Given the description of an element on the screen output the (x, y) to click on. 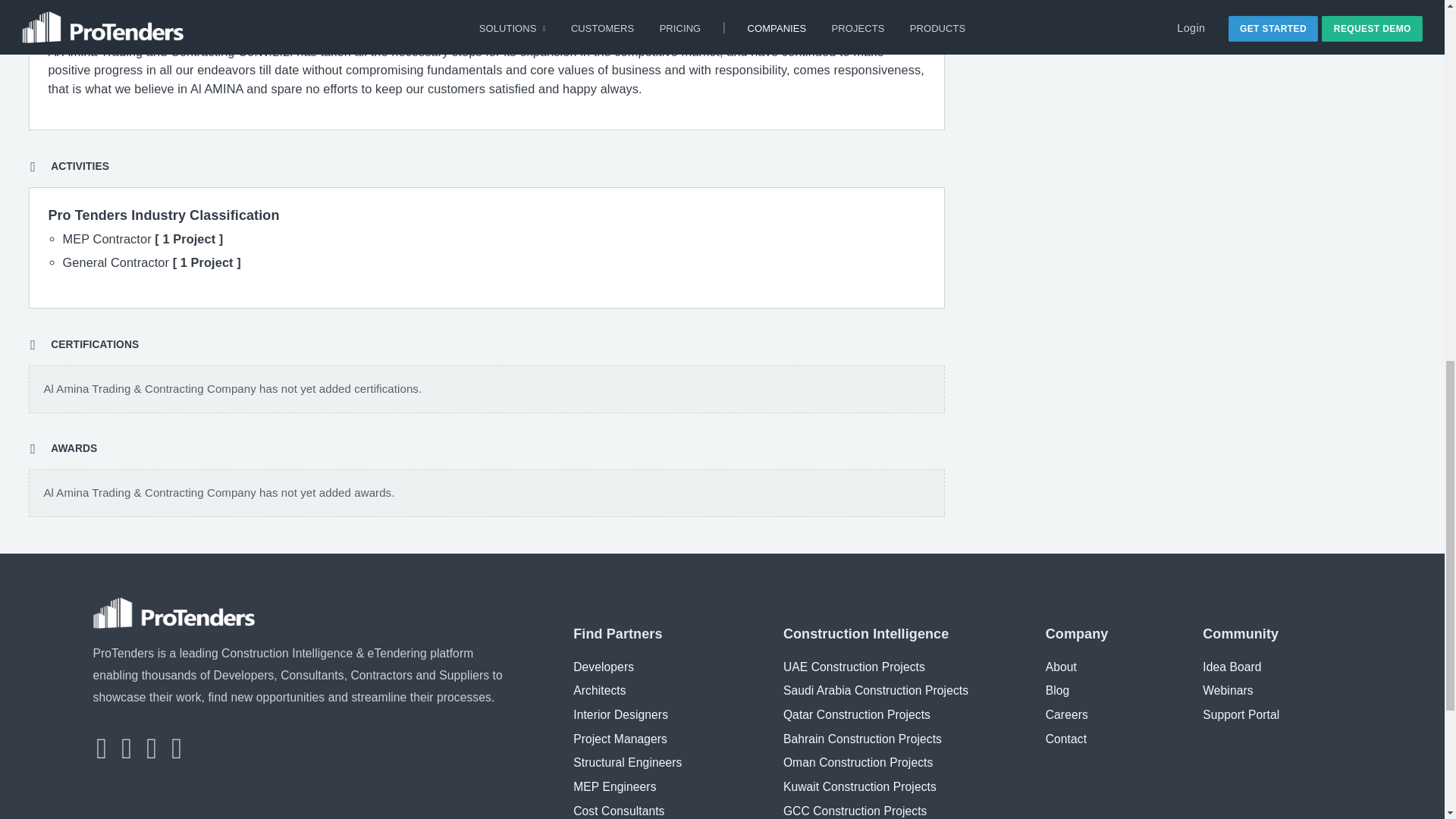
www.alamina.qa (1048, 6)
Protenders (175, 612)
